Given the description of an element on the screen output the (x, y) to click on. 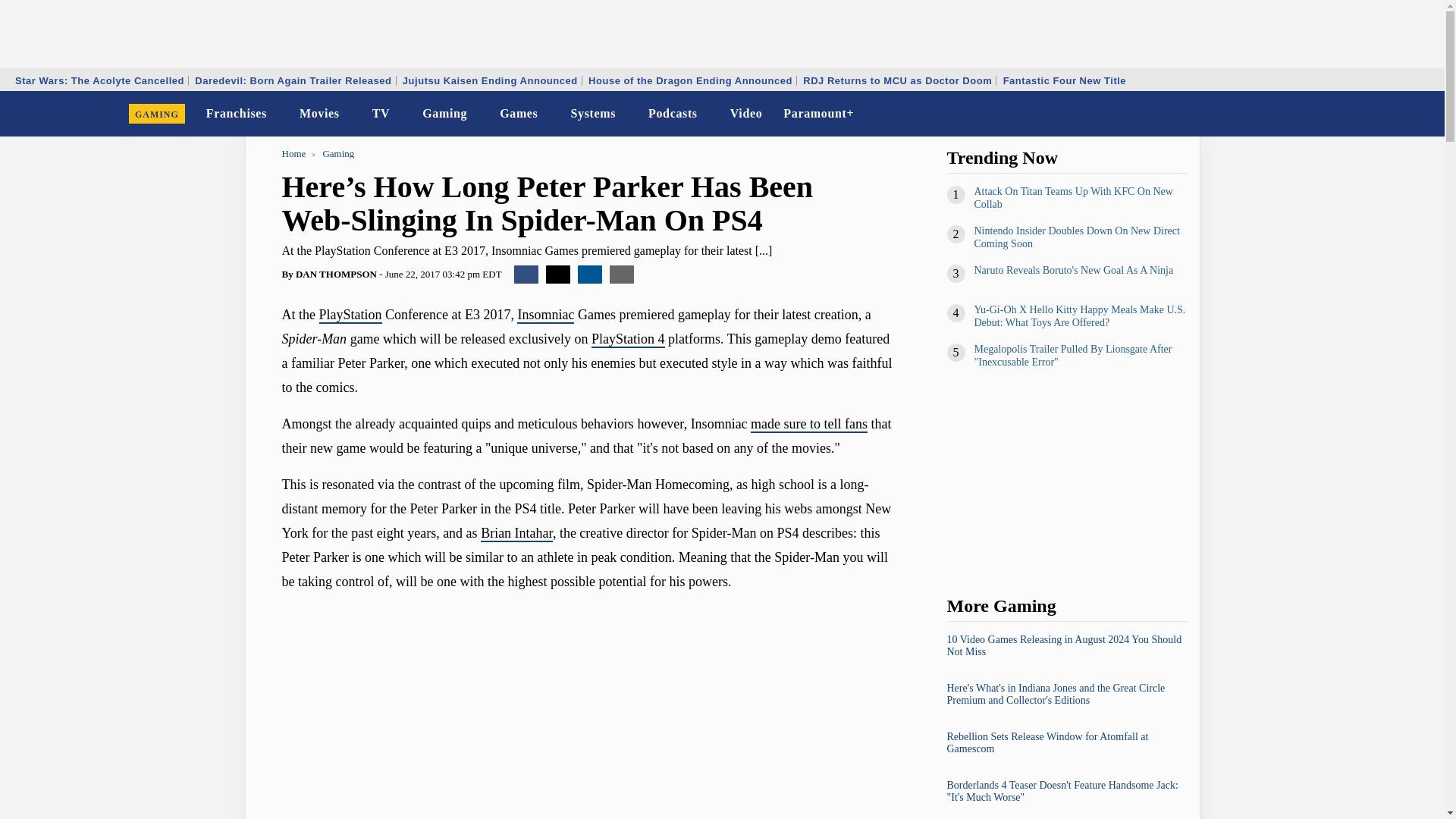
Gaming (444, 113)
Jujutsu Kaisen Ending Announced (489, 80)
Movies (320, 113)
Dark Mode (1394, 113)
Daredevil: Born Again Trailer Released (292, 80)
RDJ Returns to MCU as Doctor Doom (897, 80)
Fantastic Four New Title (1064, 80)
GAMING (157, 113)
Search (1422, 114)
Star Wars: The Acolyte Cancelled (99, 80)
